Given the description of an element on the screen output the (x, y) to click on. 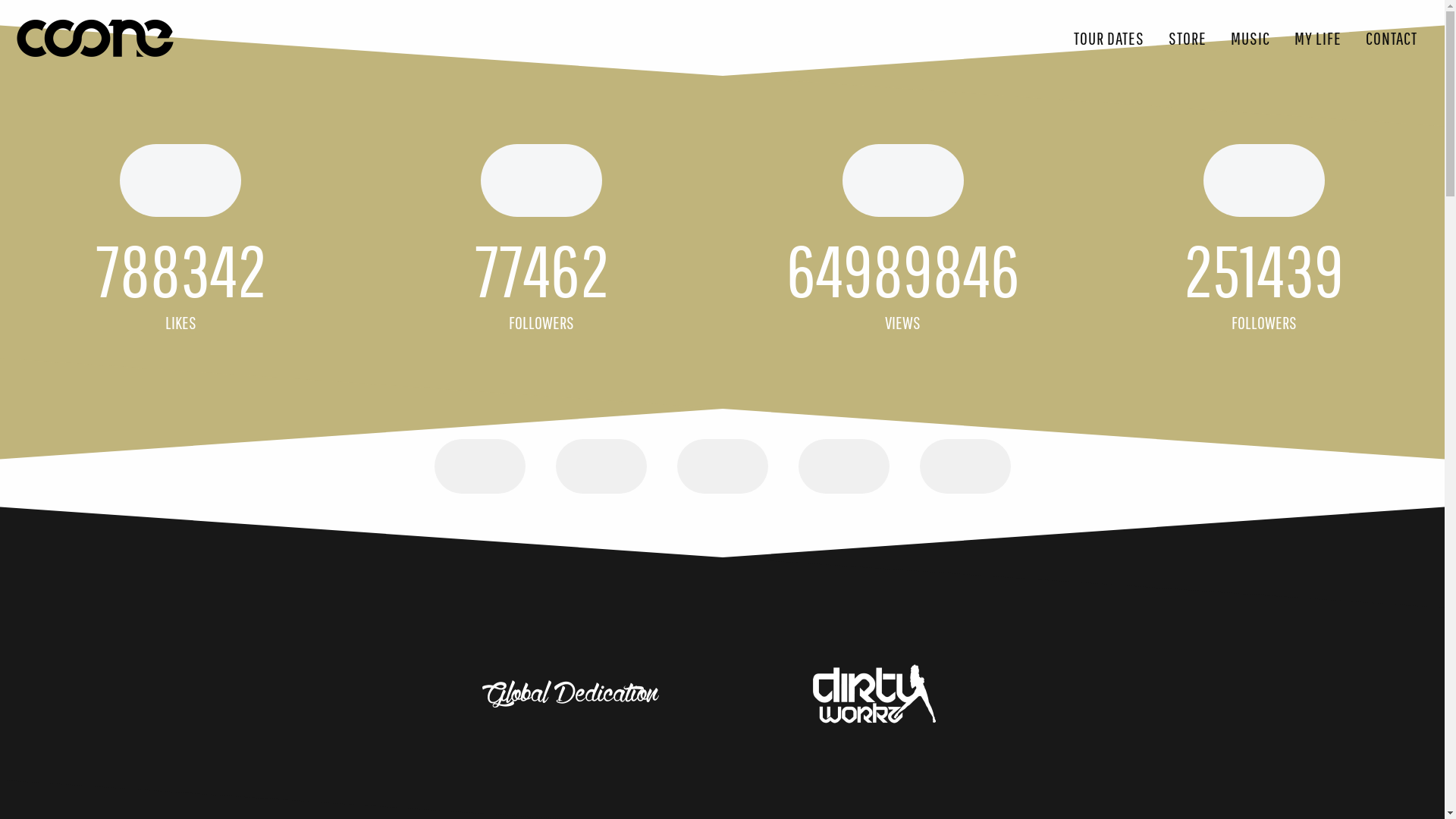
DJ Coone Element type: hover (94, 37)
Global Dedication Element type: hover (569, 693)
MUSIC Element type: text (1250, 37)
STORE Element type: text (1187, 37)
TOUR DATES Element type: text (1108, 37)
CONTACT Element type: text (1391, 37)
Dirty Workz Element type: hover (873, 693)
MY LIFE Element type: text (1317, 37)
